Given the description of an element on the screen output the (x, y) to click on. 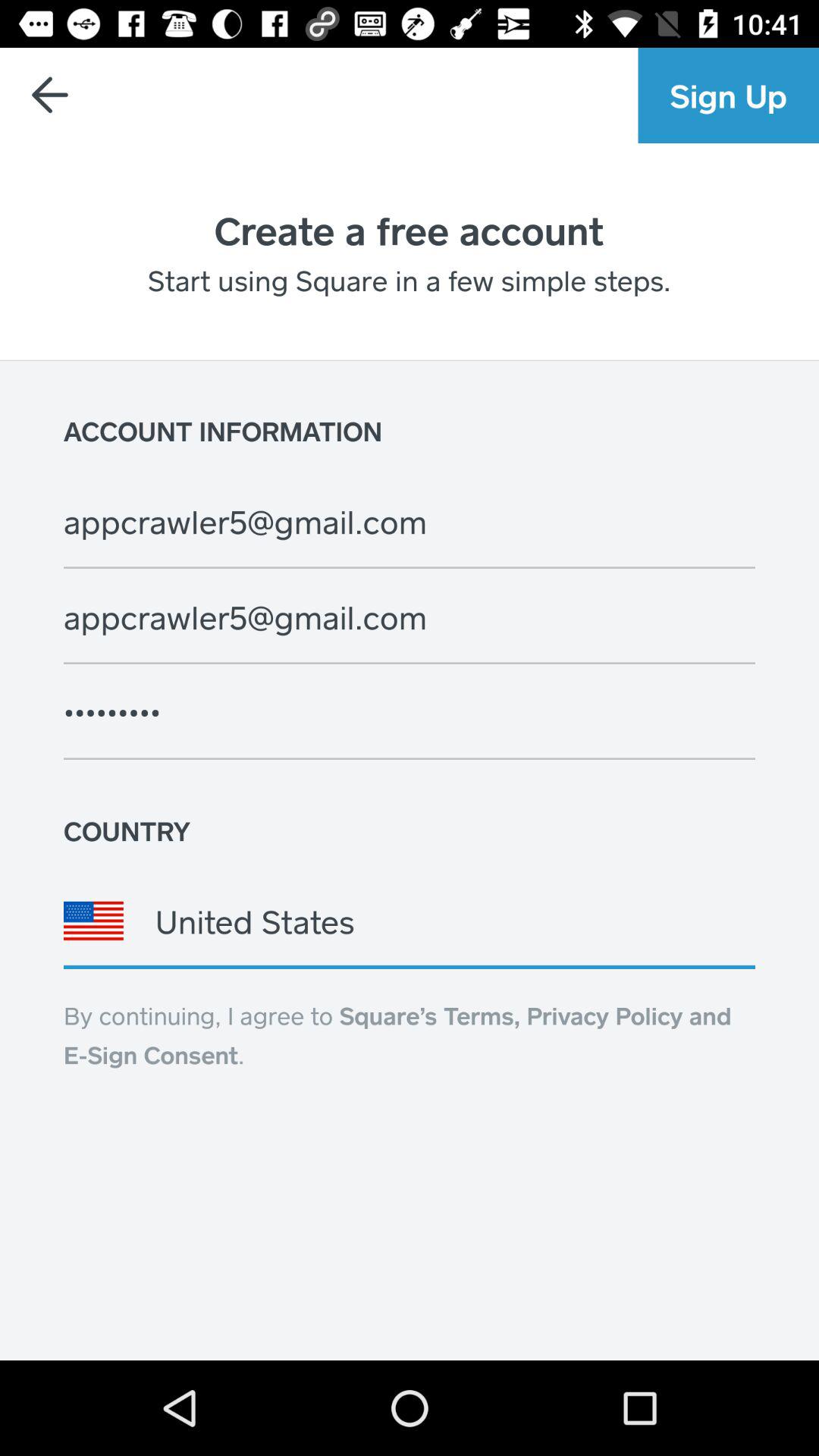
press icon above the start using square icon (409, 230)
